Given the description of an element on the screen output the (x, y) to click on. 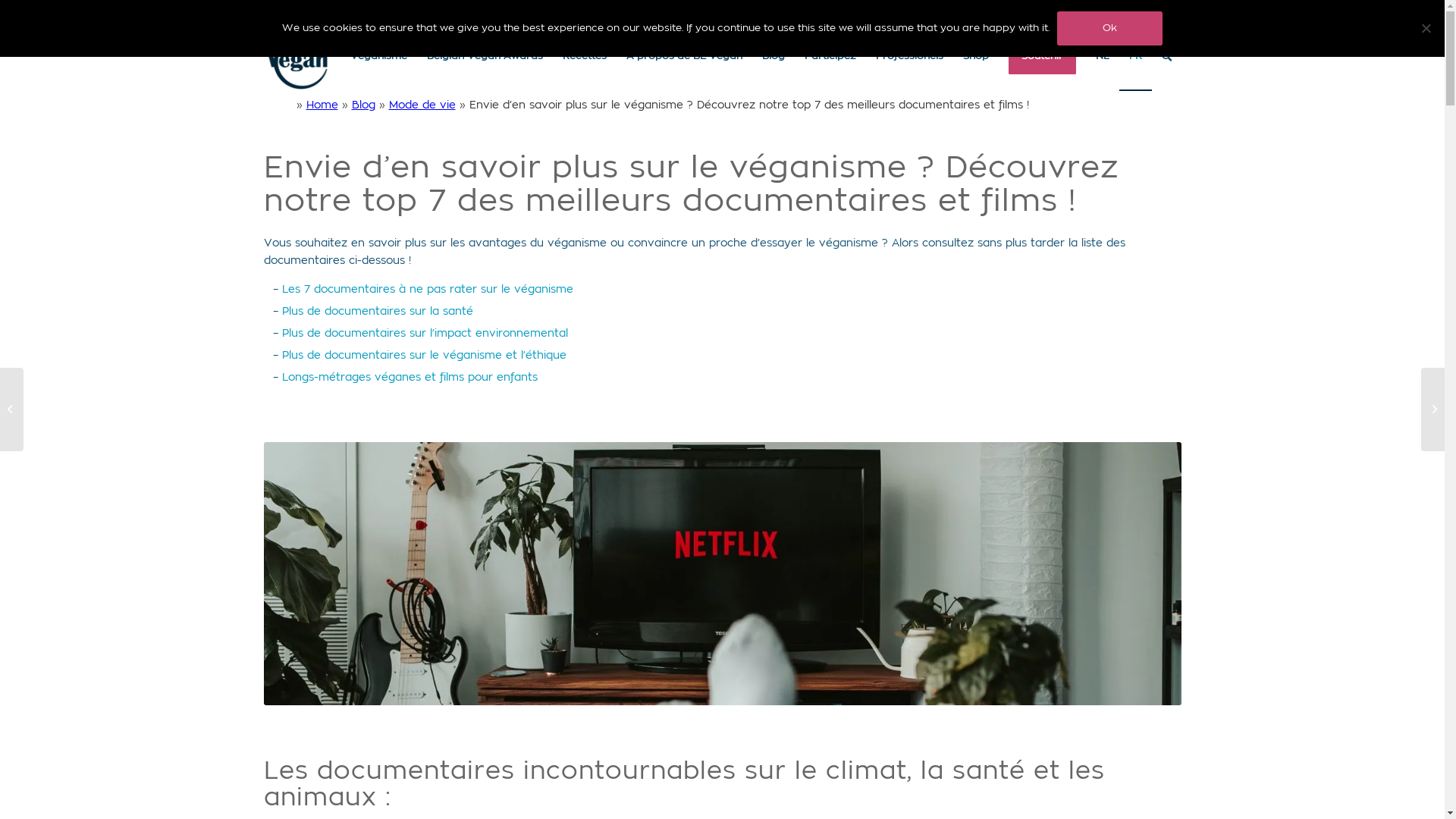
Instagram Element type: hover (1169, 11)
Professionels Element type: text (909, 56)
NL Element type: text (1102, 56)
Blog Element type: text (363, 105)
netflix Element type: hover (722, 573)
Home Element type: text (322, 105)
Facebook Element type: hover (1146, 11)
Blog Element type: text (773, 56)
Contact Element type: text (1111, 10)
Belgian Vegan Awards Element type: text (484, 56)
Mode de vie Element type: text (421, 105)
FR Element type: text (1135, 56)
Shop Element type: text (974, 56)
No Element type: hover (1425, 27)
Participez Element type: text (830, 56)
Recettes Element type: text (583, 56)
Soutenir Element type: text (1041, 56)
A propos de BE Vegan Element type: text (683, 56)
Ok Element type: text (1109, 28)
